Given the description of an element on the screen output the (x, y) to click on. 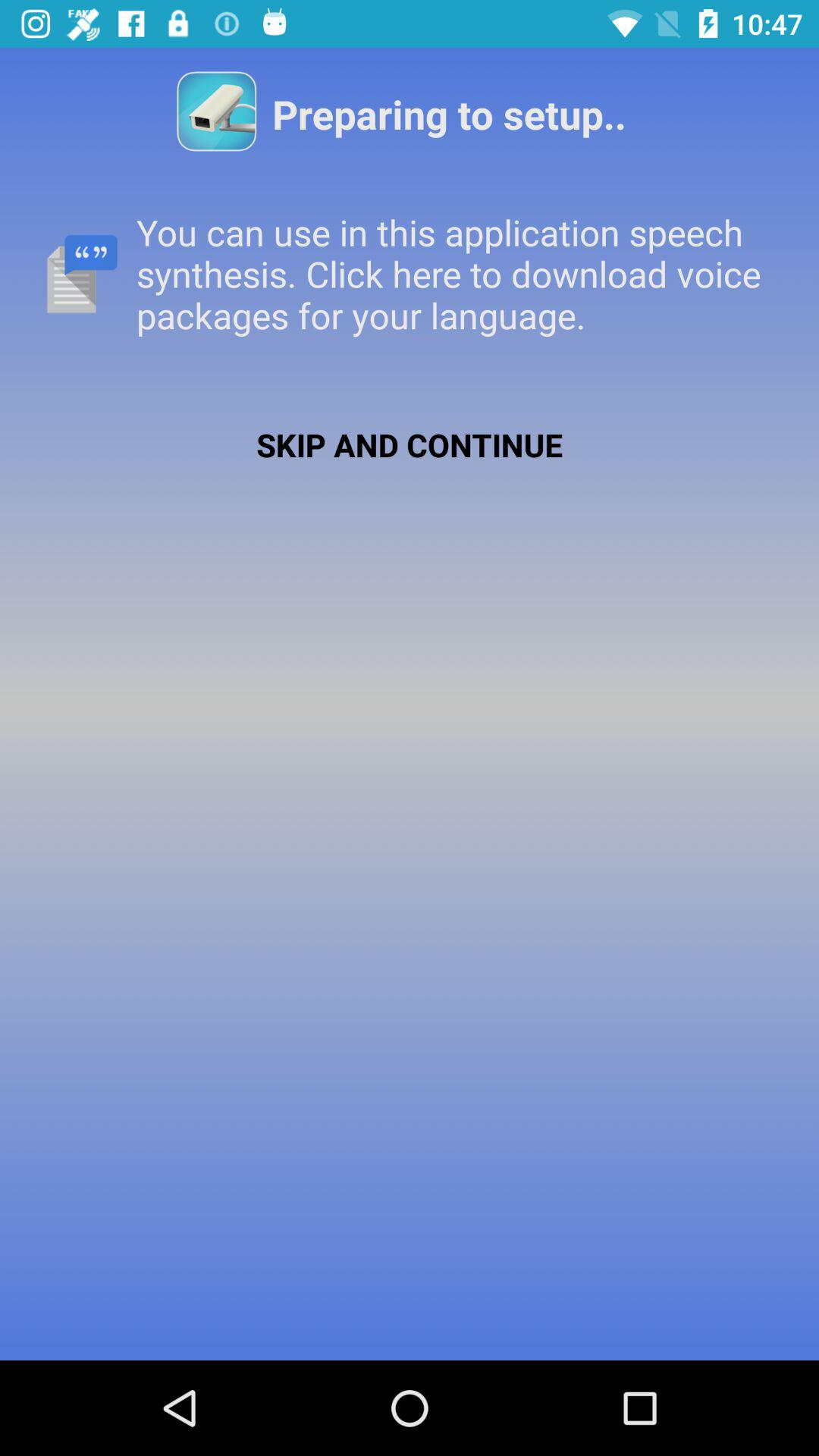
launch app below preparing to setup.. icon (409, 273)
